Given the description of an element on the screen output the (x, y) to click on. 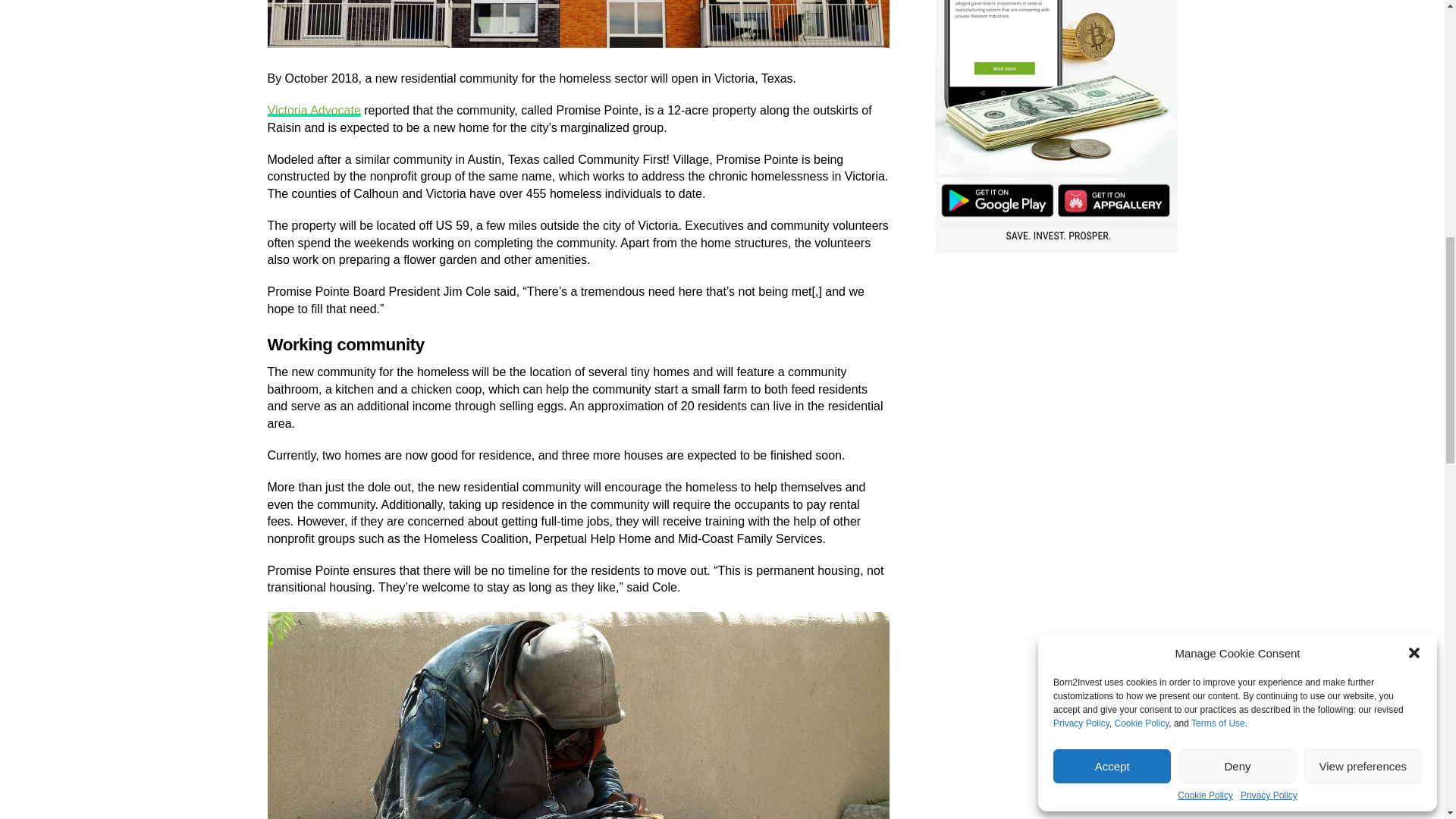
Advertisement (1055, 371)
